Given the description of an element on the screen output the (x, y) to click on. 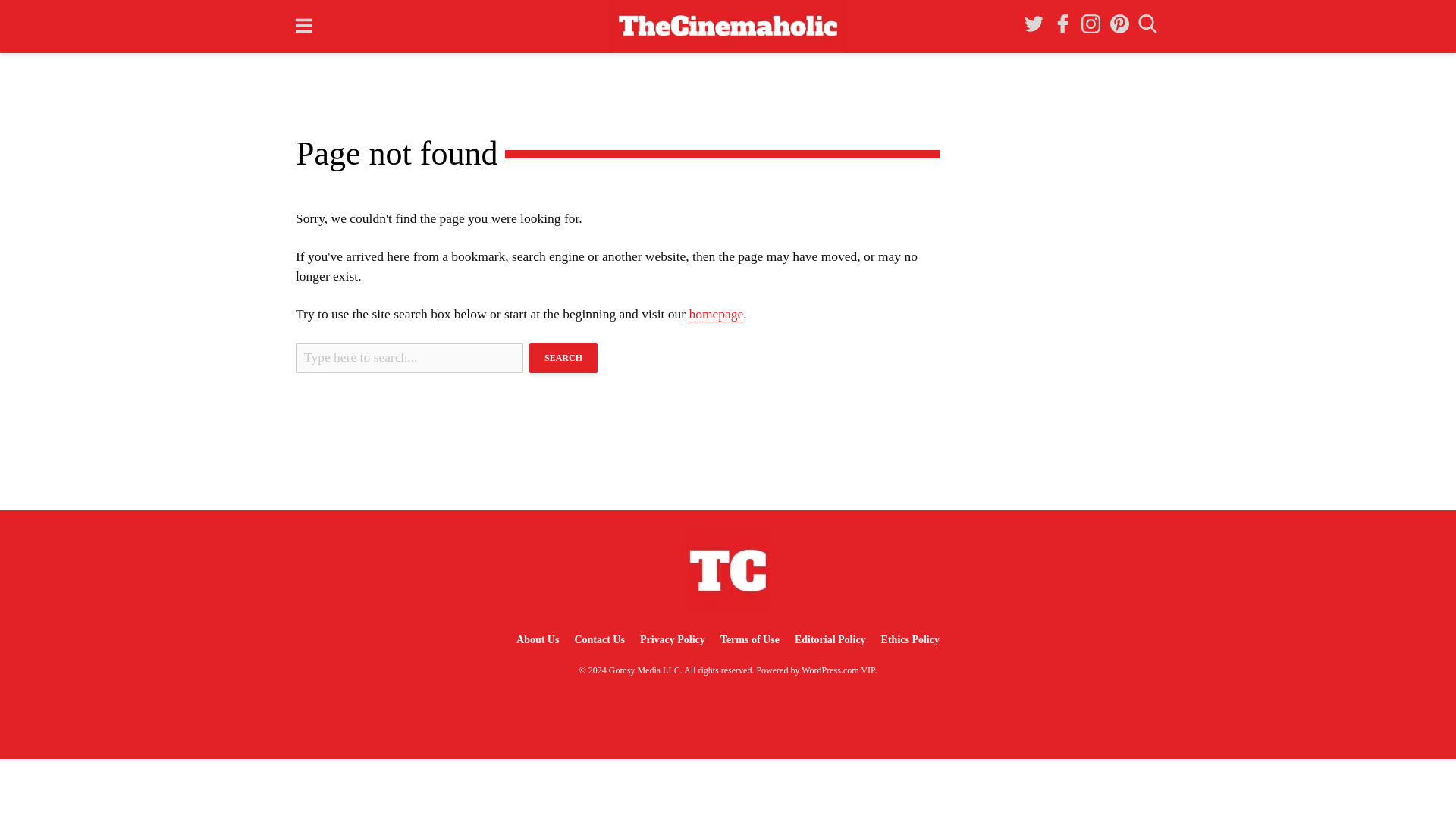
Terms of Use (750, 639)
Editorial Policy (830, 639)
About Us (537, 639)
Privacy Policy (672, 639)
Contact Us (598, 639)
WordPress.com VIP (838, 670)
Ethics Policy (910, 639)
homepage (715, 314)
SEARCH (562, 358)
